Given the description of an element on the screen output the (x, y) to click on. 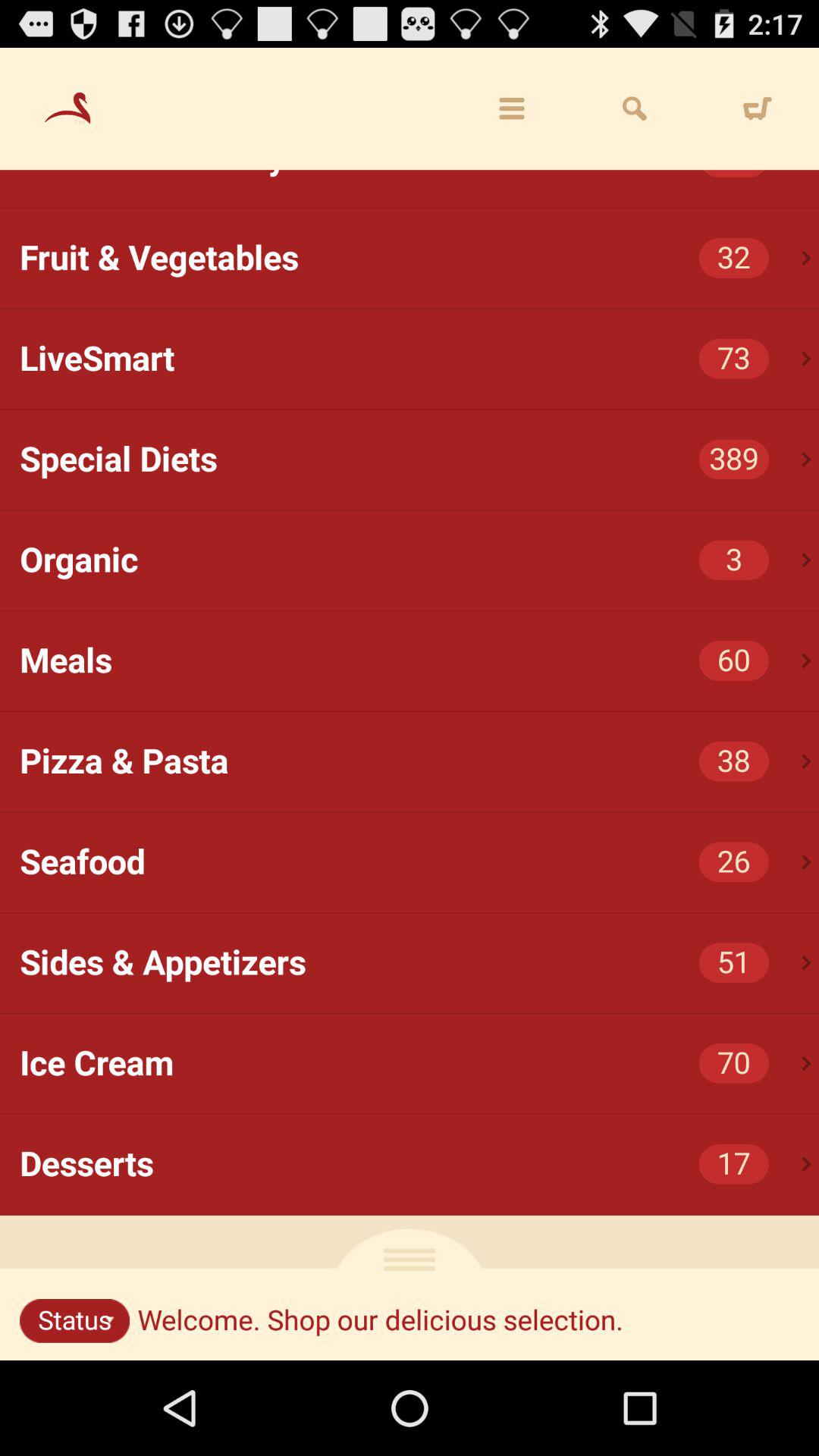
turn on the icon below the pizza & pasta icon (806, 861)
